Given the description of an element on the screen output the (x, y) to click on. 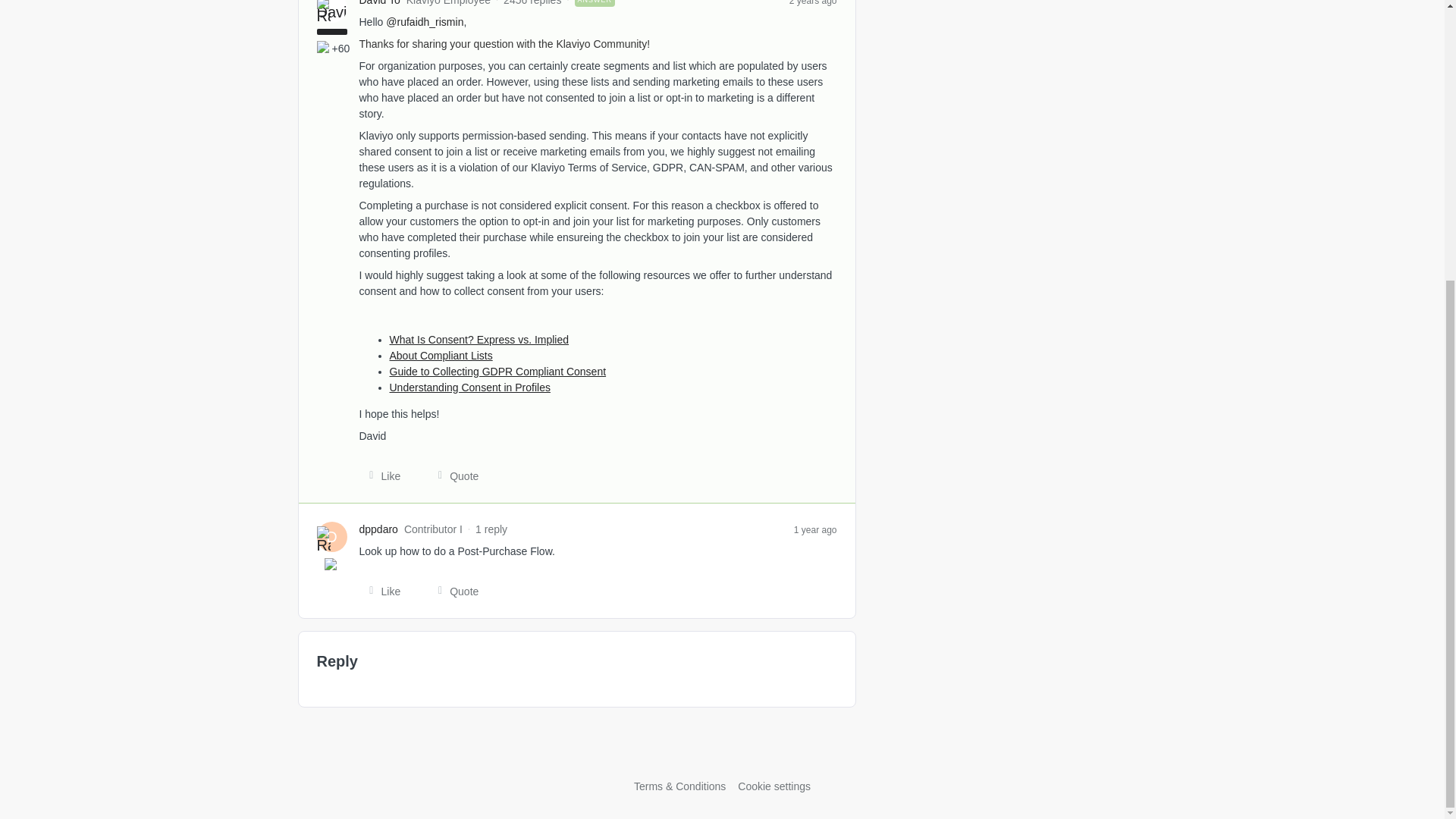
Understanding Consent in Profiles (470, 386)
David To (379, 4)
Quote (453, 476)
Like (380, 476)
Cookie settings (774, 786)
1 year ago (815, 529)
Quote (453, 590)
About Compliant Lists (441, 354)
David To (379, 4)
Guide to Collecting GDPR Compliant Consent (498, 371)
